Given the description of an element on the screen output the (x, y) to click on. 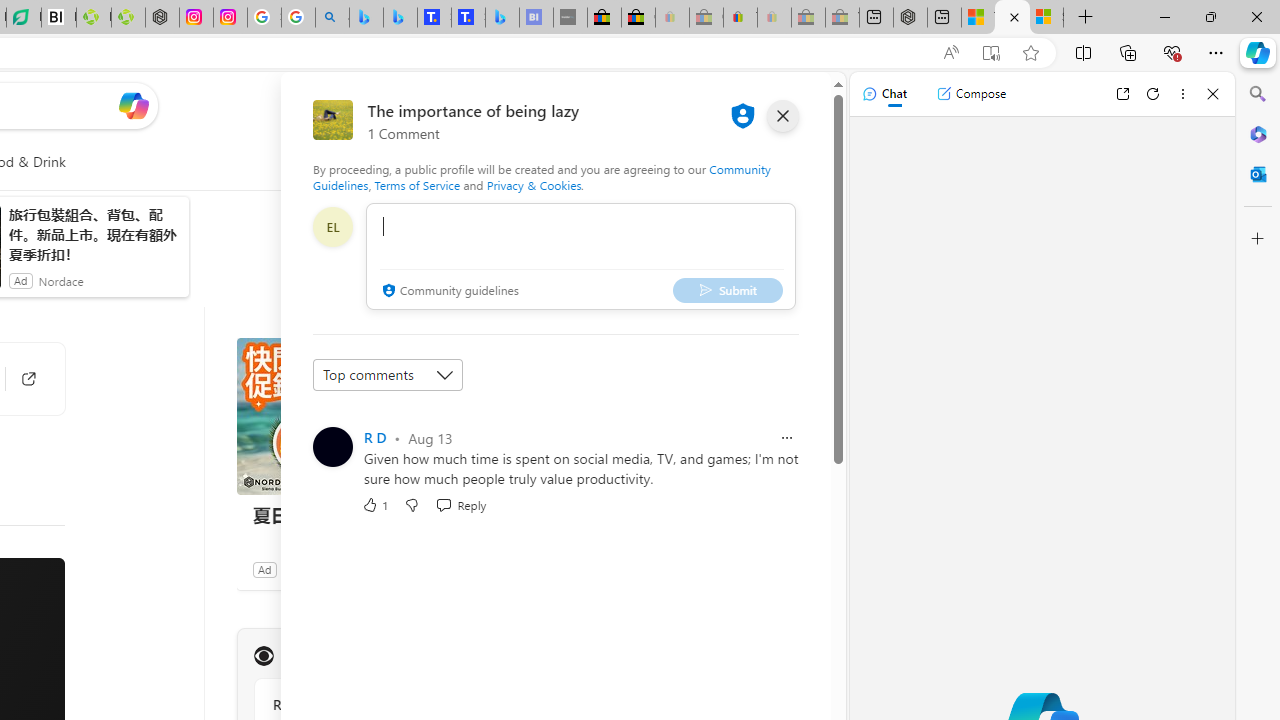
Visit CBS News website (511, 655)
R D (374, 437)
comment-box (581, 256)
Community Guidelines (541, 176)
Profile Picture (333, 446)
